Given the description of an element on the screen output the (x, y) to click on. 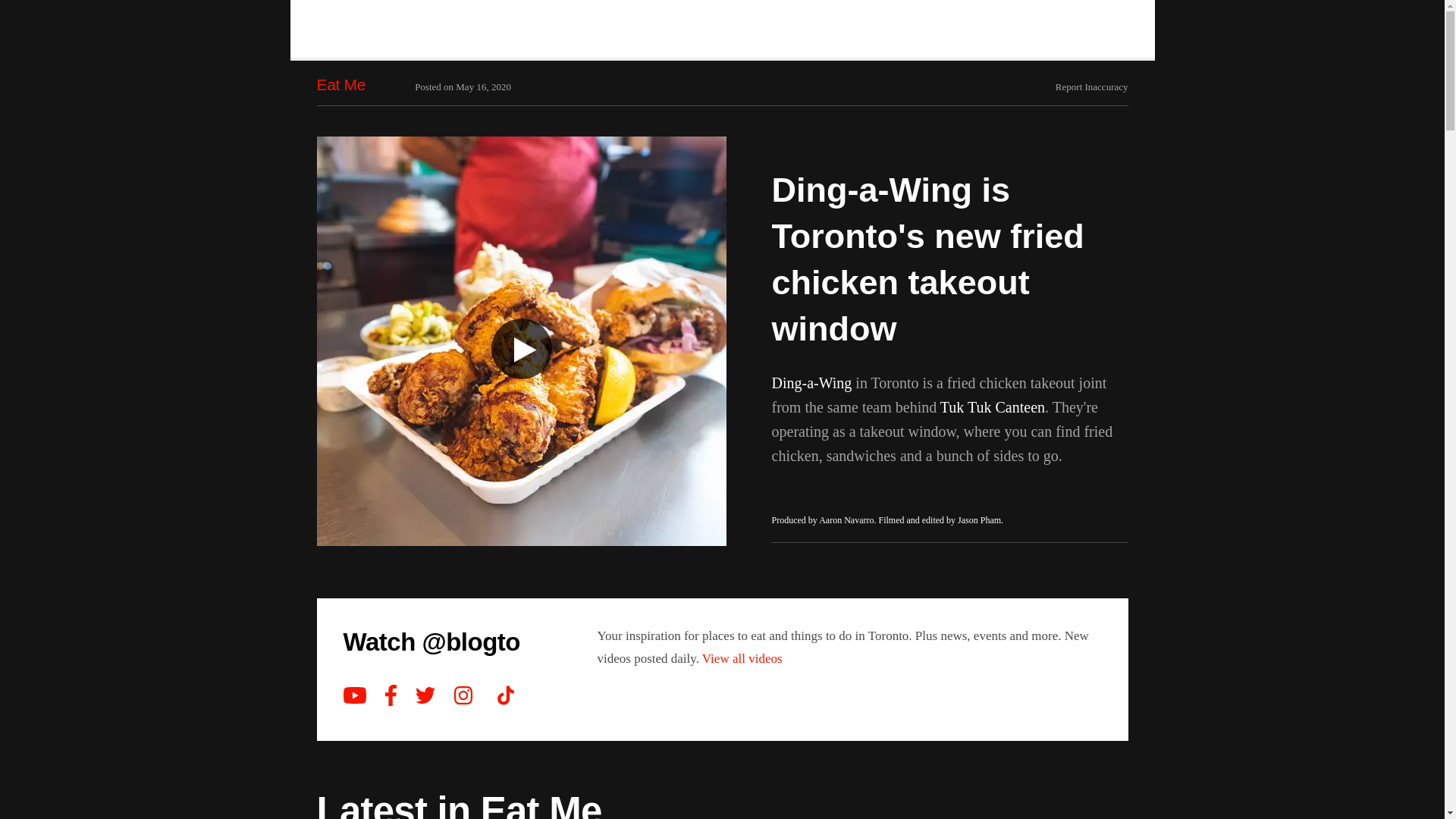
Report Inaccuracy (1091, 86)
View all videos (742, 658)
Ding-a-Wing (811, 382)
Tuk Tuk Canteen (992, 406)
Eat Me (341, 85)
